Given the description of an element on the screen output the (x, y) to click on. 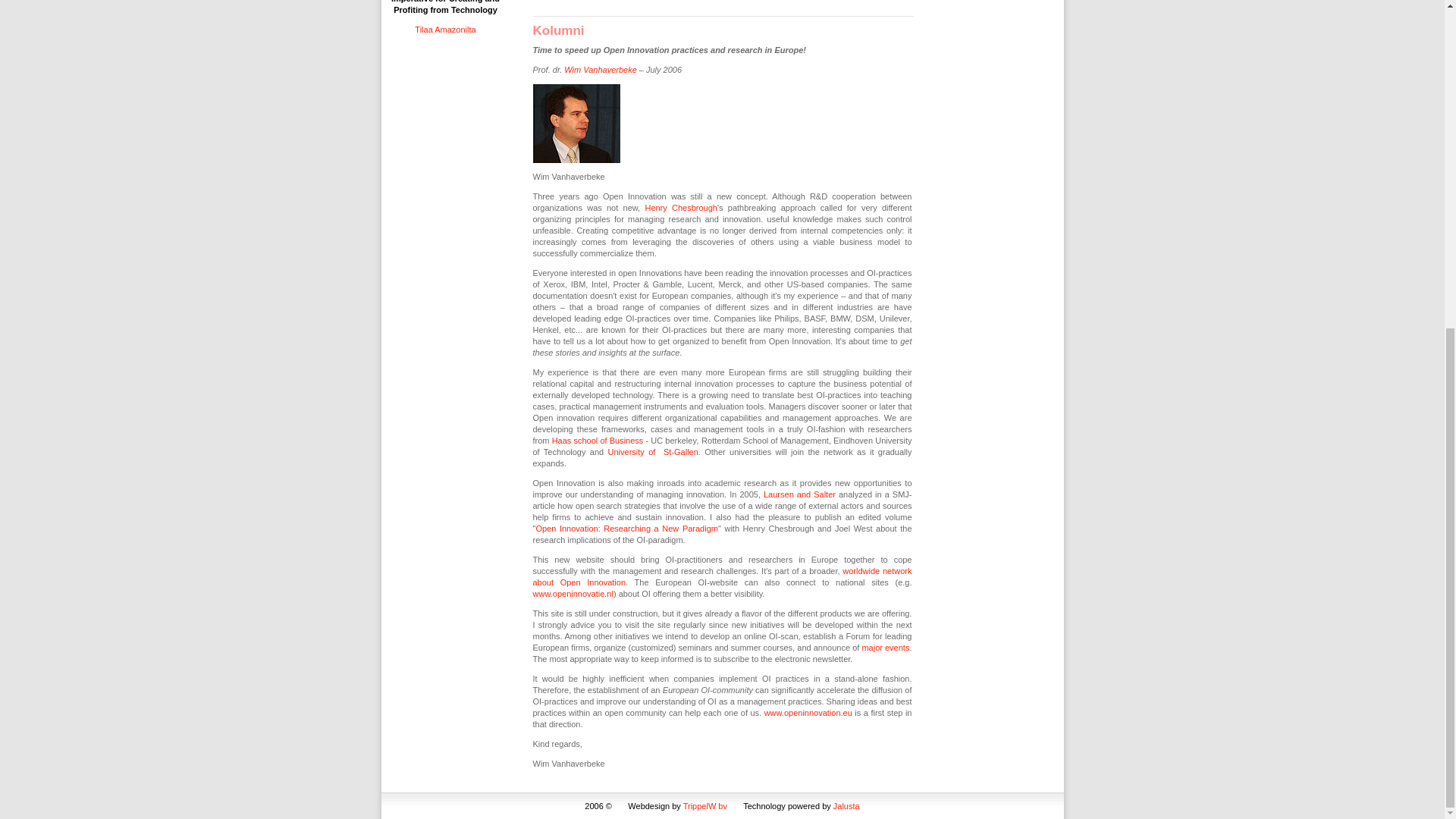
University of  St-Gallen (653, 451)
Jalusta (846, 805)
Henry Chesbrough (681, 207)
Tilaa Amazonilta (445, 29)
Open Innovation: Researching a New Paradigm (626, 528)
Laursen and Salter (798, 493)
Wim Vanhaverbeke (600, 69)
www.openinnovatie.nl (572, 593)
www.openinnovation.eu (807, 712)
TrippelW bv (704, 805)
worldwide network about Open Innovation (721, 576)
Haas school of Business (597, 440)
major events (884, 646)
